Given the description of an element on the screen output the (x, y) to click on. 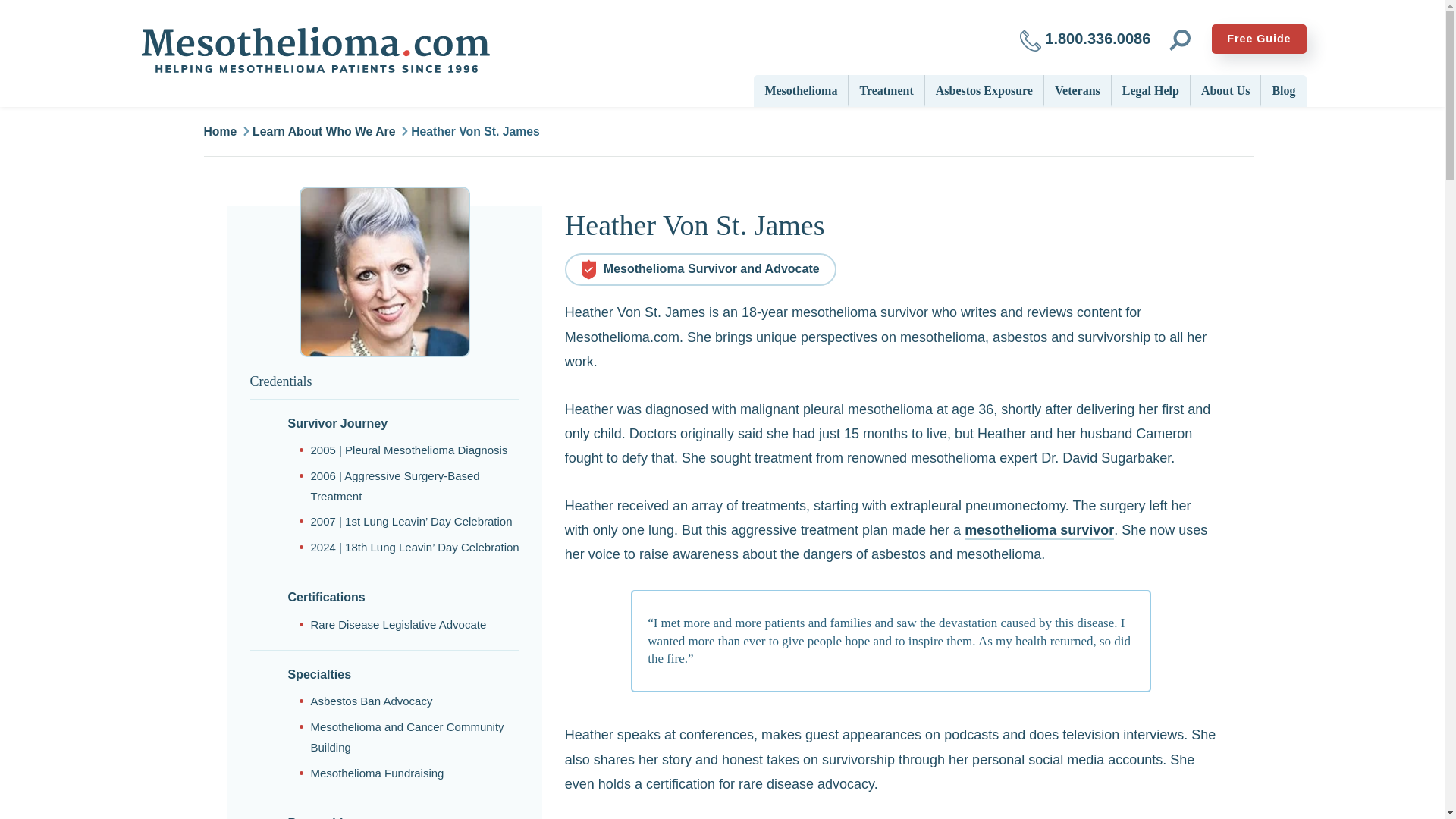
Mesothelioma (800, 89)
Home (314, 49)
Free Guide (1258, 39)
Asbestos Exposure (983, 89)
Treatment (885, 89)
1.800.336.0086 (1084, 39)
